Given the description of an element on the screen output the (x, y) to click on. 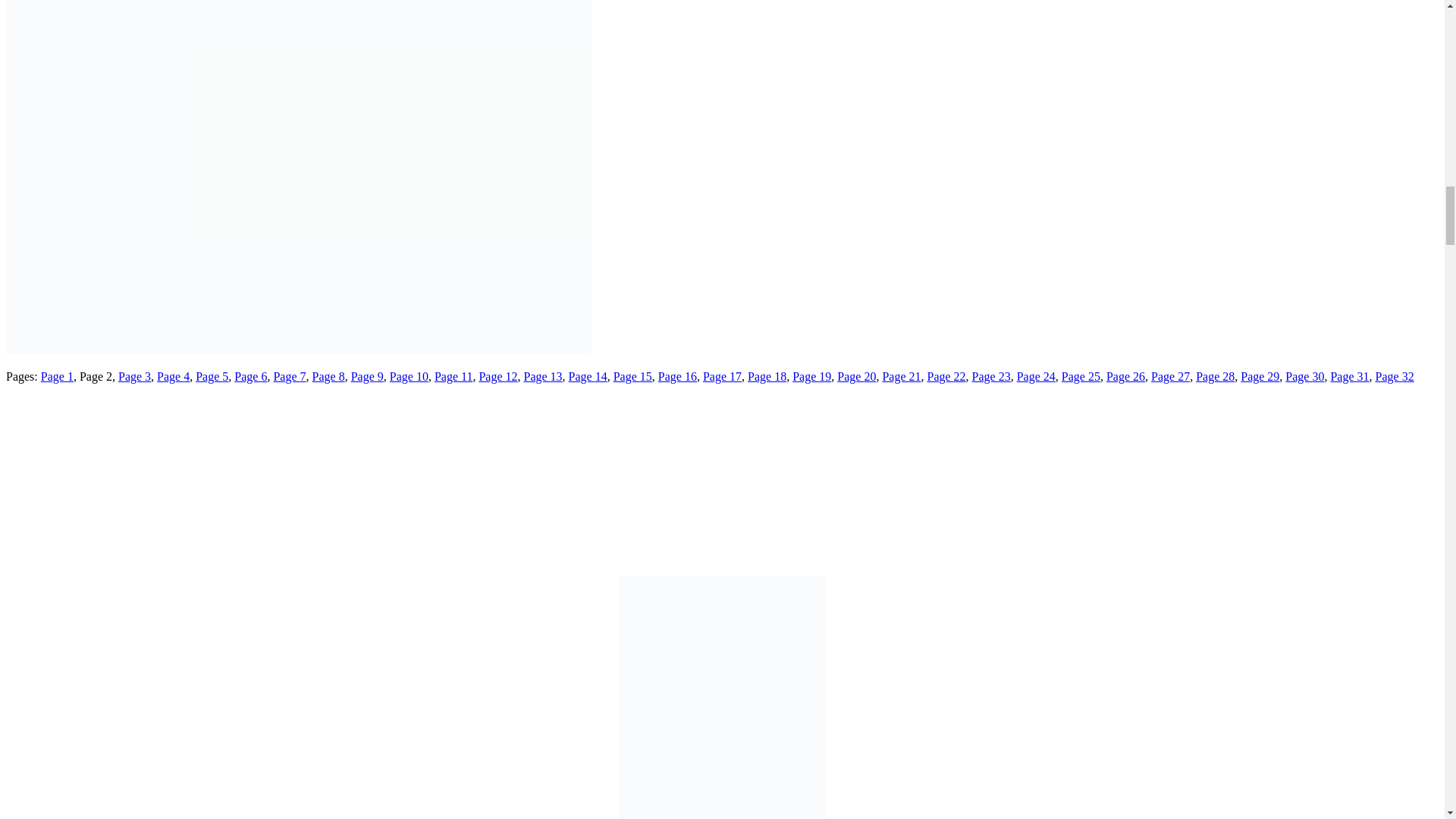
Page 4 (173, 376)
Page 23 (991, 376)
Page 15 (632, 376)
Page 21 (901, 376)
Page 24 (1035, 376)
Page 11 (453, 376)
Page 25 (1080, 376)
Page 8 (329, 376)
Page 20 (856, 376)
Page 7 (289, 376)
Page 12 (497, 376)
Page 14 (588, 376)
Page 9 (367, 376)
Page 3 (134, 376)
Page 1 (57, 376)
